Given the description of an element on the screen output the (x, y) to click on. 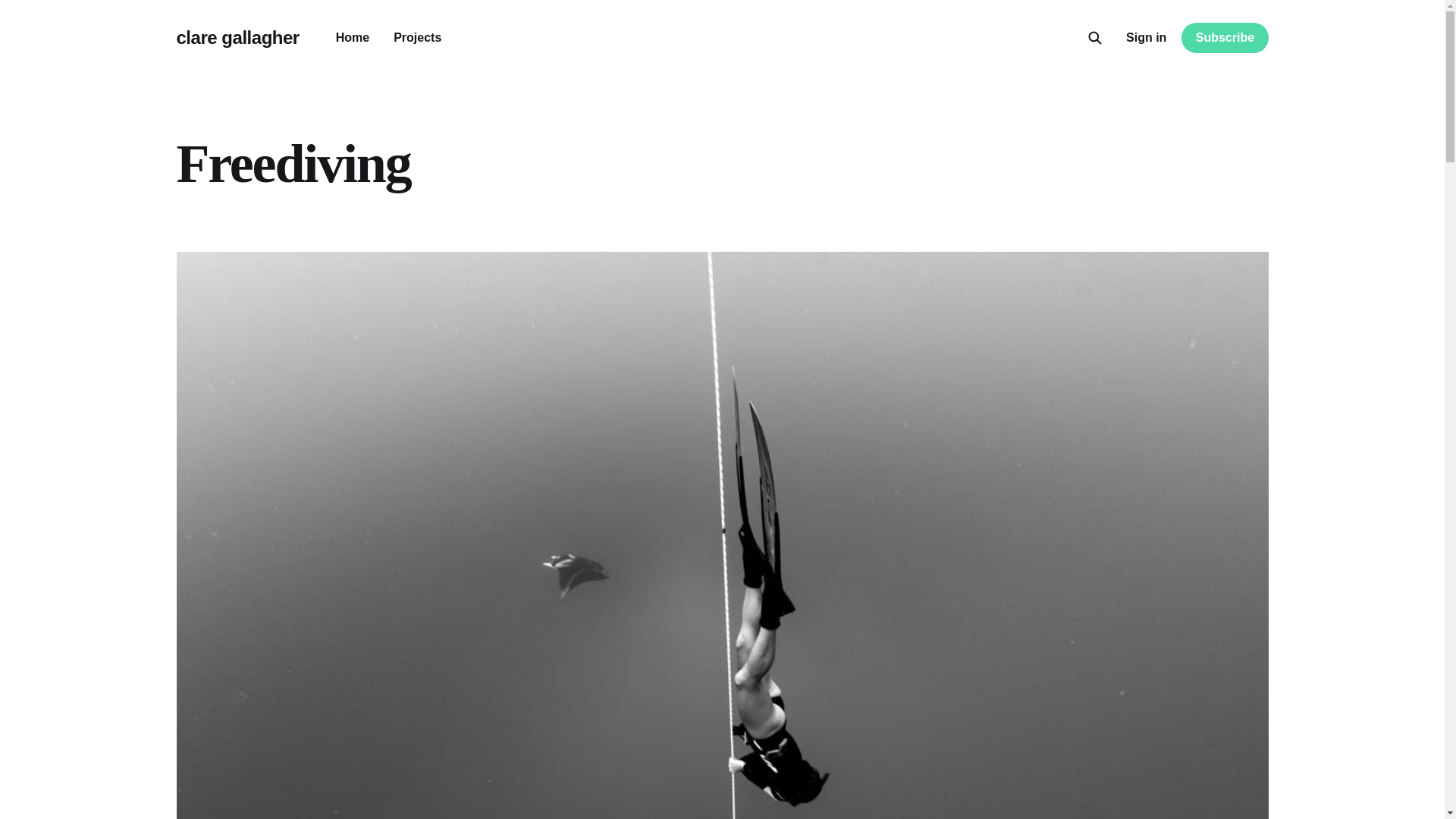
Sign in (1145, 37)
clare gallagher (237, 37)
Subscribe (1224, 37)
Home (352, 37)
Projects (417, 37)
